Given the description of an element on the screen output the (x, y) to click on. 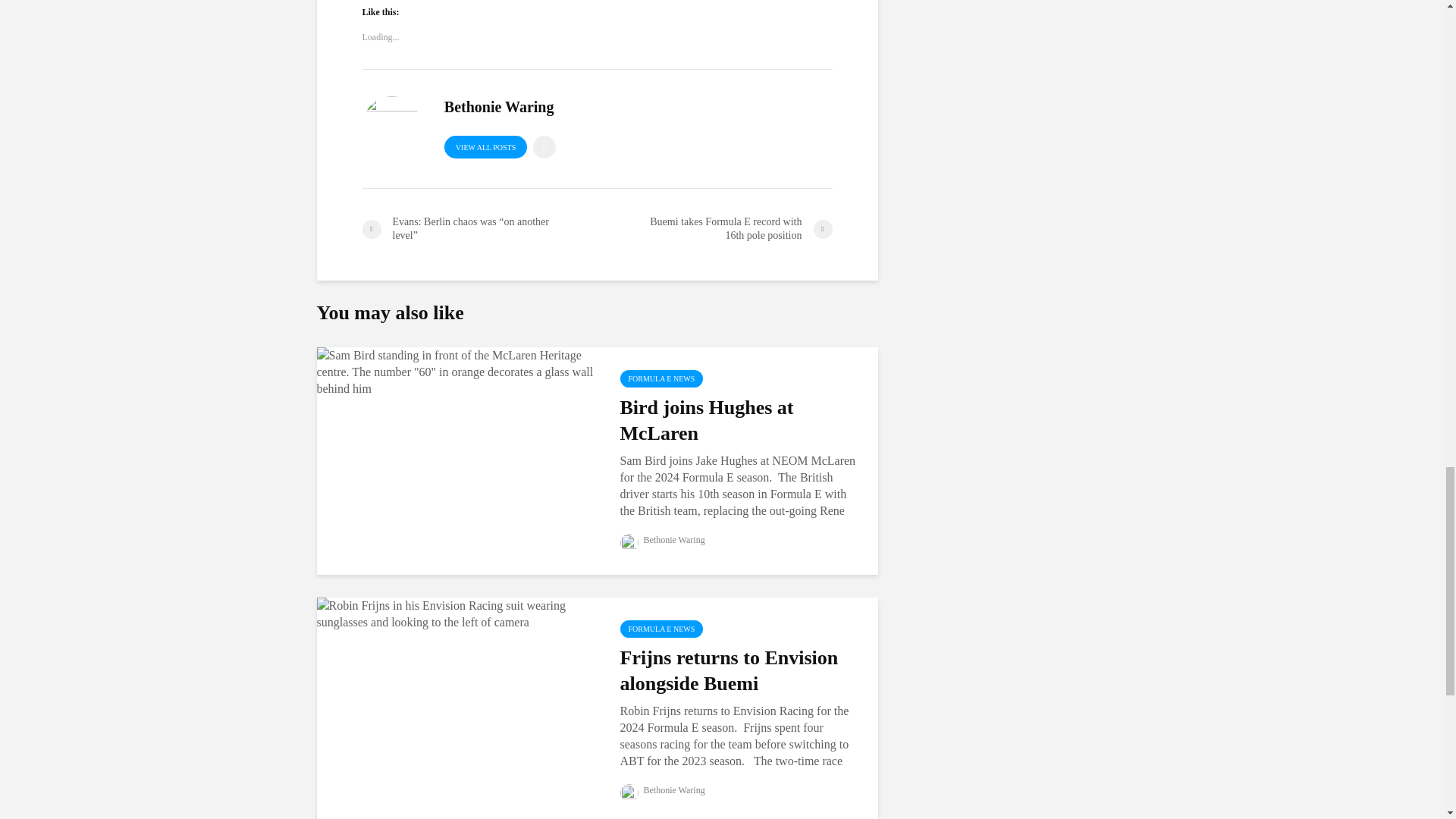
Buemi takes Formula E record with 16th pole position (714, 228)
Frijns returns to Envision alongside Buemi (456, 612)
Bird joins Hughes at McLaren (456, 370)
VIEW ALL POSTS (485, 146)
